Given the description of an element on the screen output the (x, y) to click on. 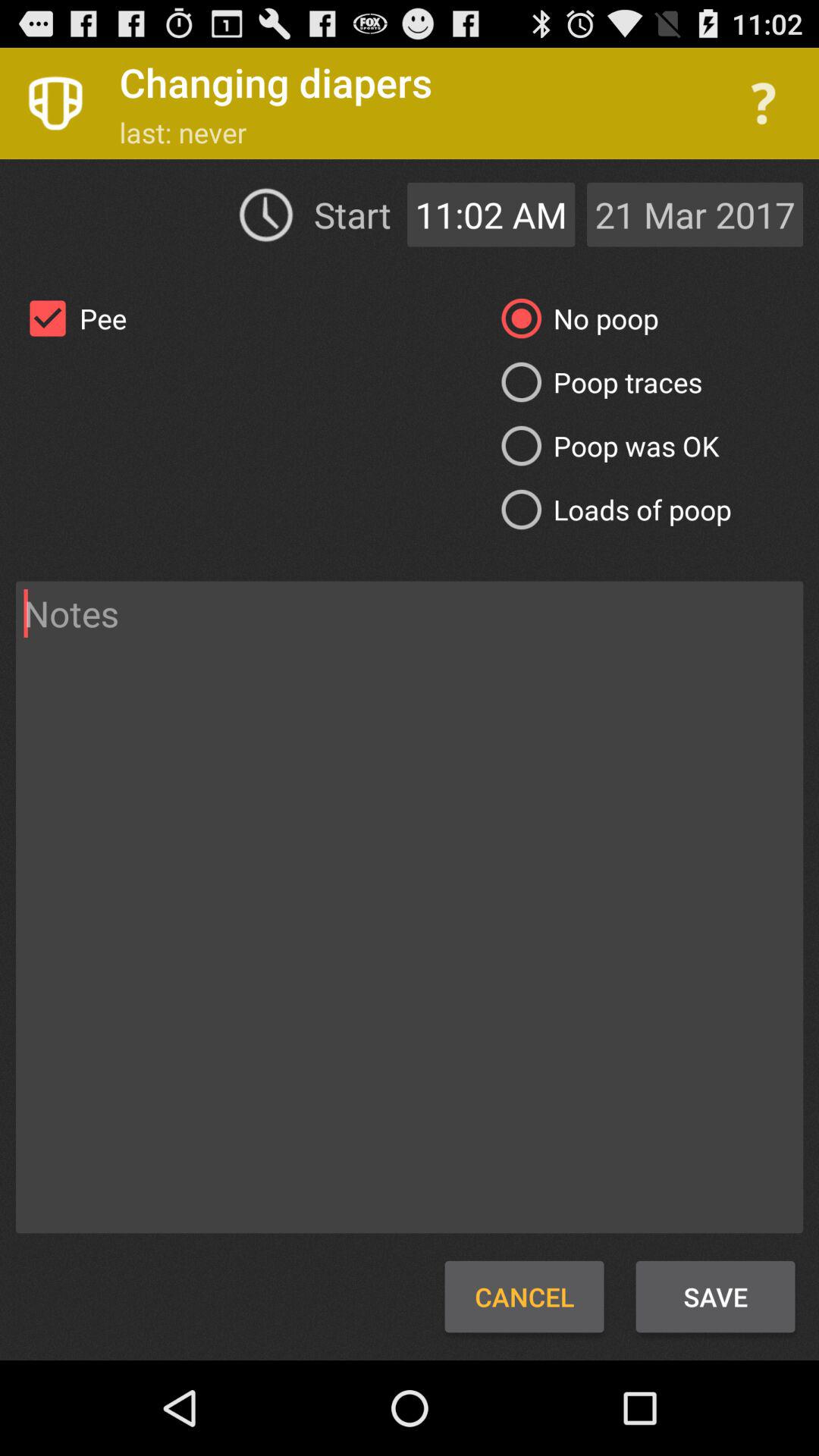
get help options (763, 103)
